Given the description of an element on the screen output the (x, y) to click on. 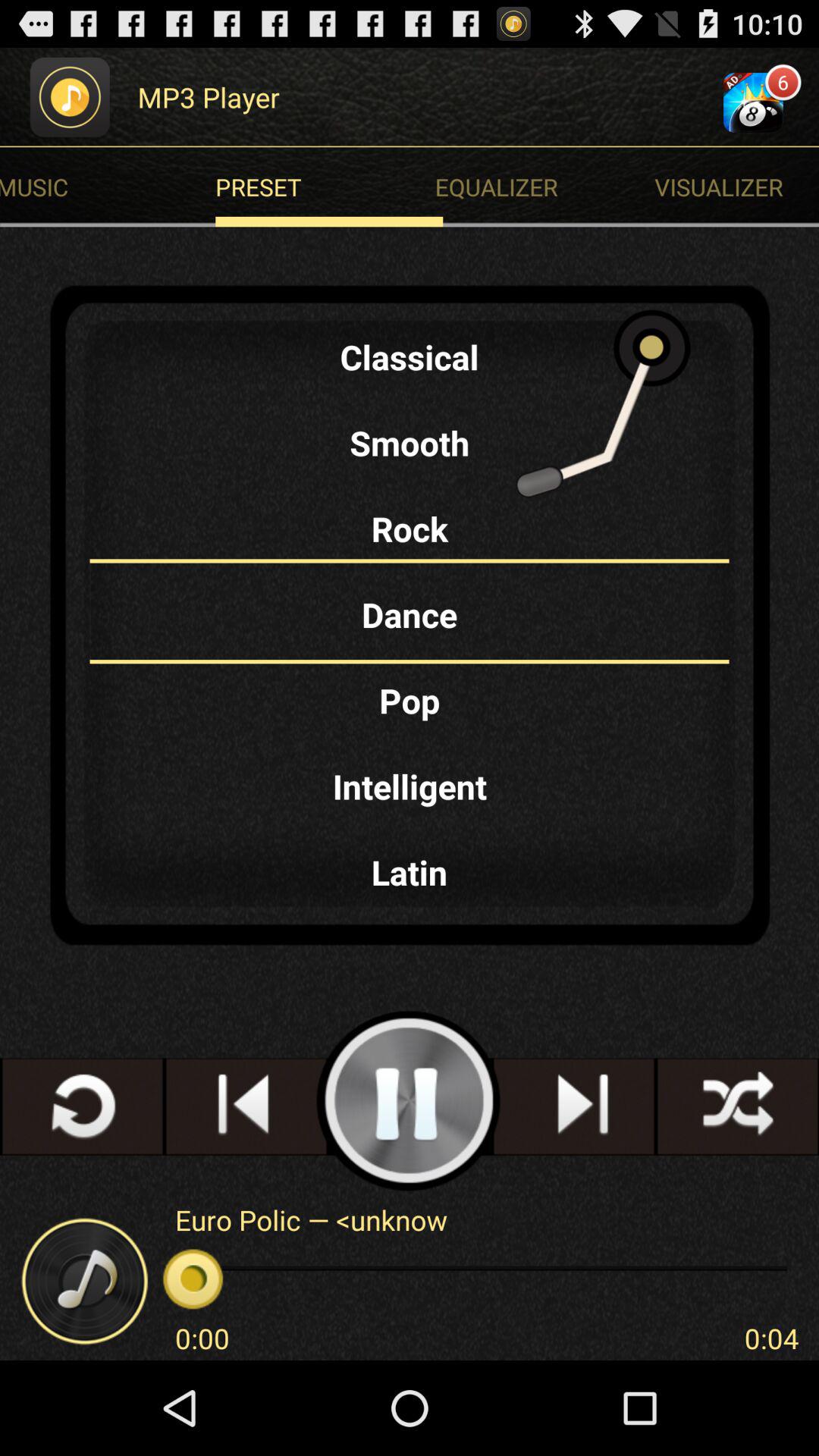
turn off item next to the visualizer item (329, 186)
